Given the description of an element on the screen output the (x, y) to click on. 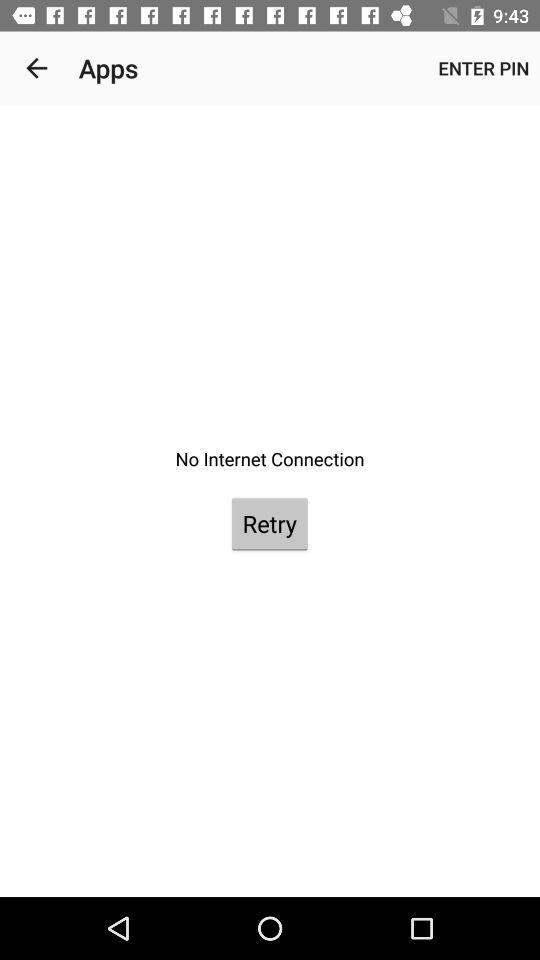
turn off icon below the no internet connection item (269, 523)
